Given the description of an element on the screen output the (x, y) to click on. 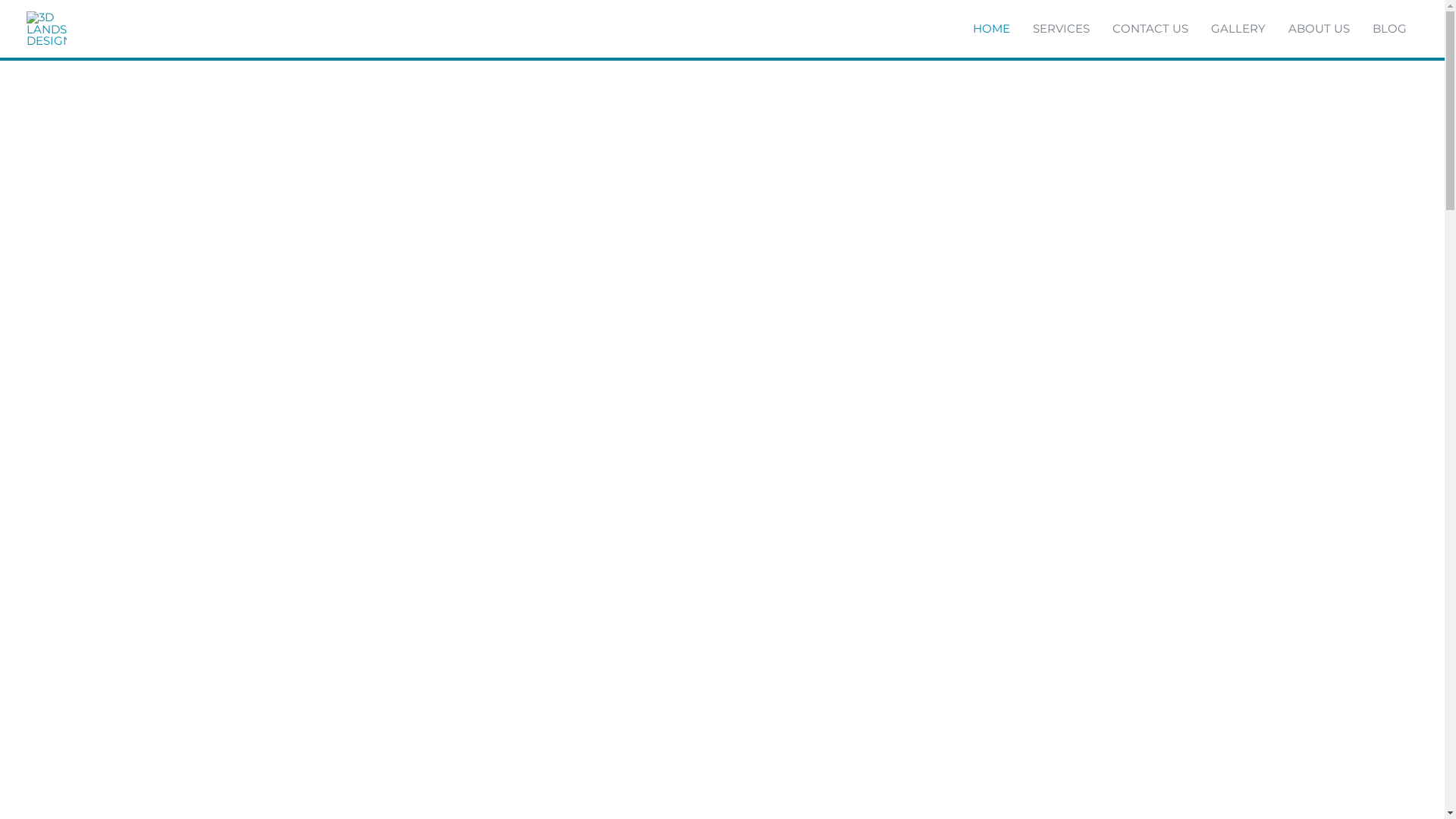
GALLERY Element type: text (1238, 28)
SERVICES Element type: text (1061, 28)
ABOUT US Element type: text (1319, 28)
BLOG Element type: text (1389, 28)
CONTACT US Element type: text (1150, 28)
HOME Element type: text (991, 28)
